Given the description of an element on the screen output the (x, y) to click on. 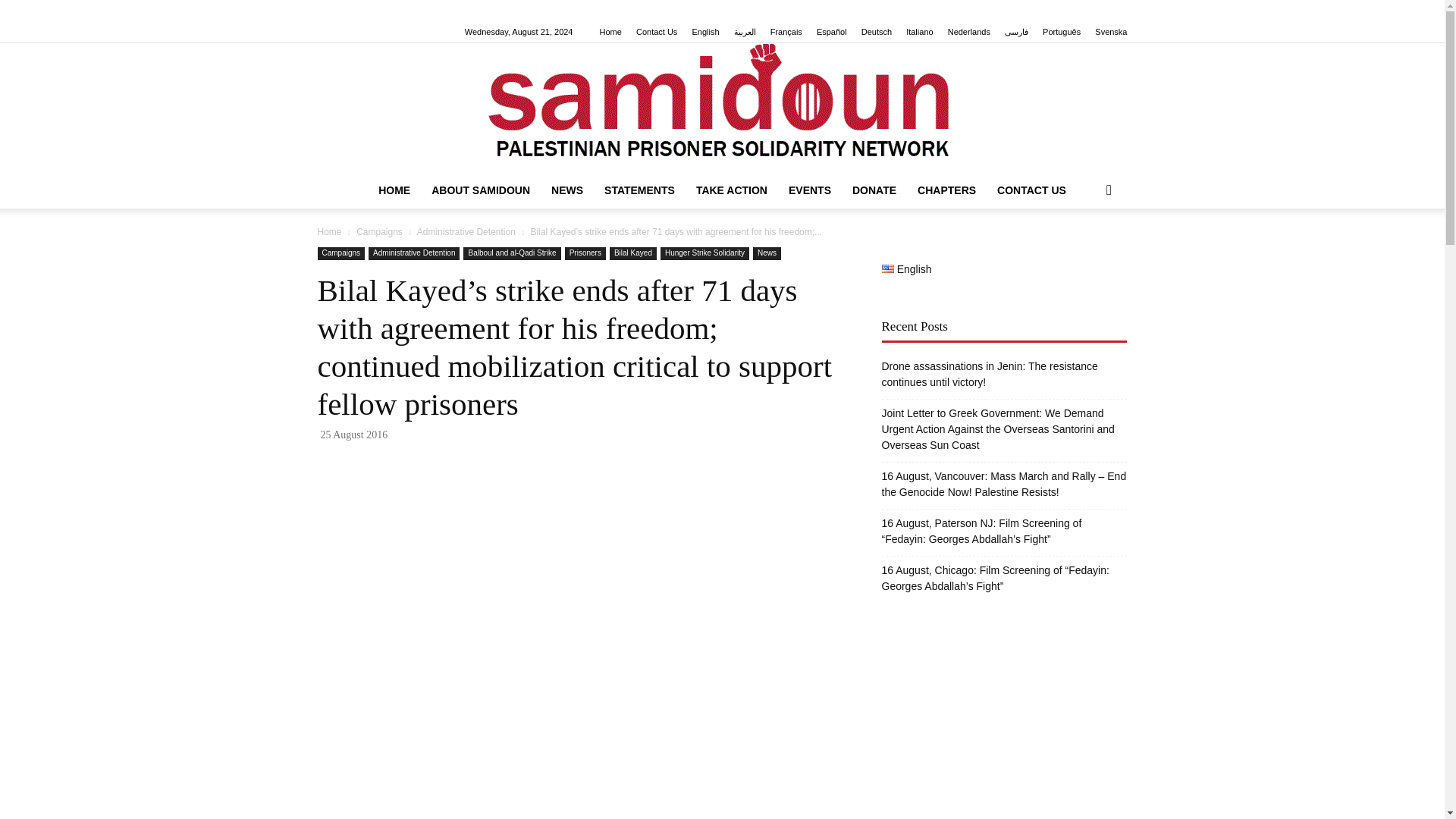
Mail (379, 10)
View all posts in Campaigns (379, 231)
Twitter (453, 10)
RSS (403, 10)
Instagram (353, 10)
Telegram (429, 10)
Facebook (328, 10)
Youtube (478, 10)
